Given the description of an element on the screen output the (x, y) to click on. 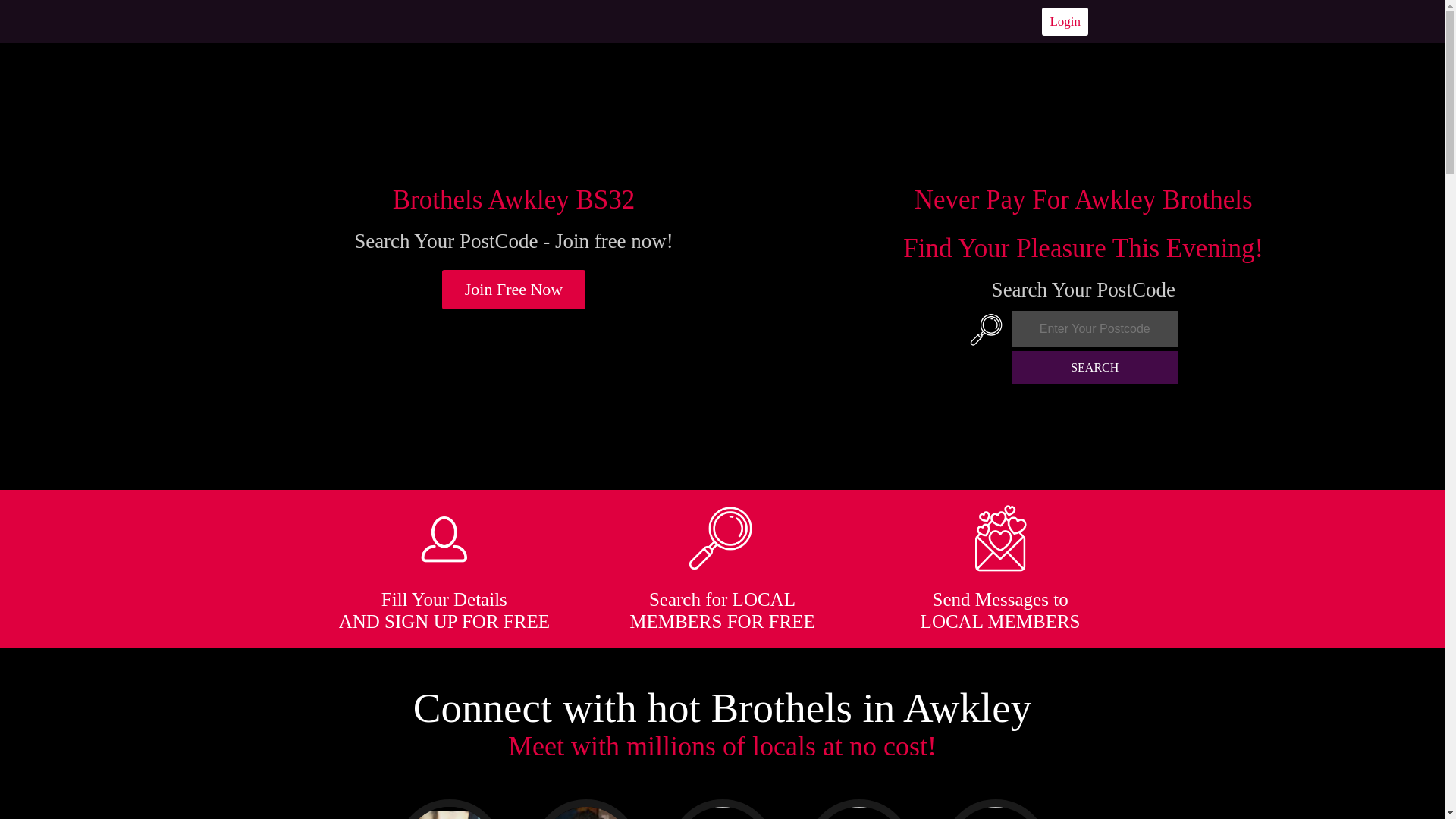
Login (1064, 21)
Login (1064, 21)
Join Free Now (514, 289)
SEARCH (1094, 367)
Join (514, 289)
